Given the description of an element on the screen output the (x, y) to click on. 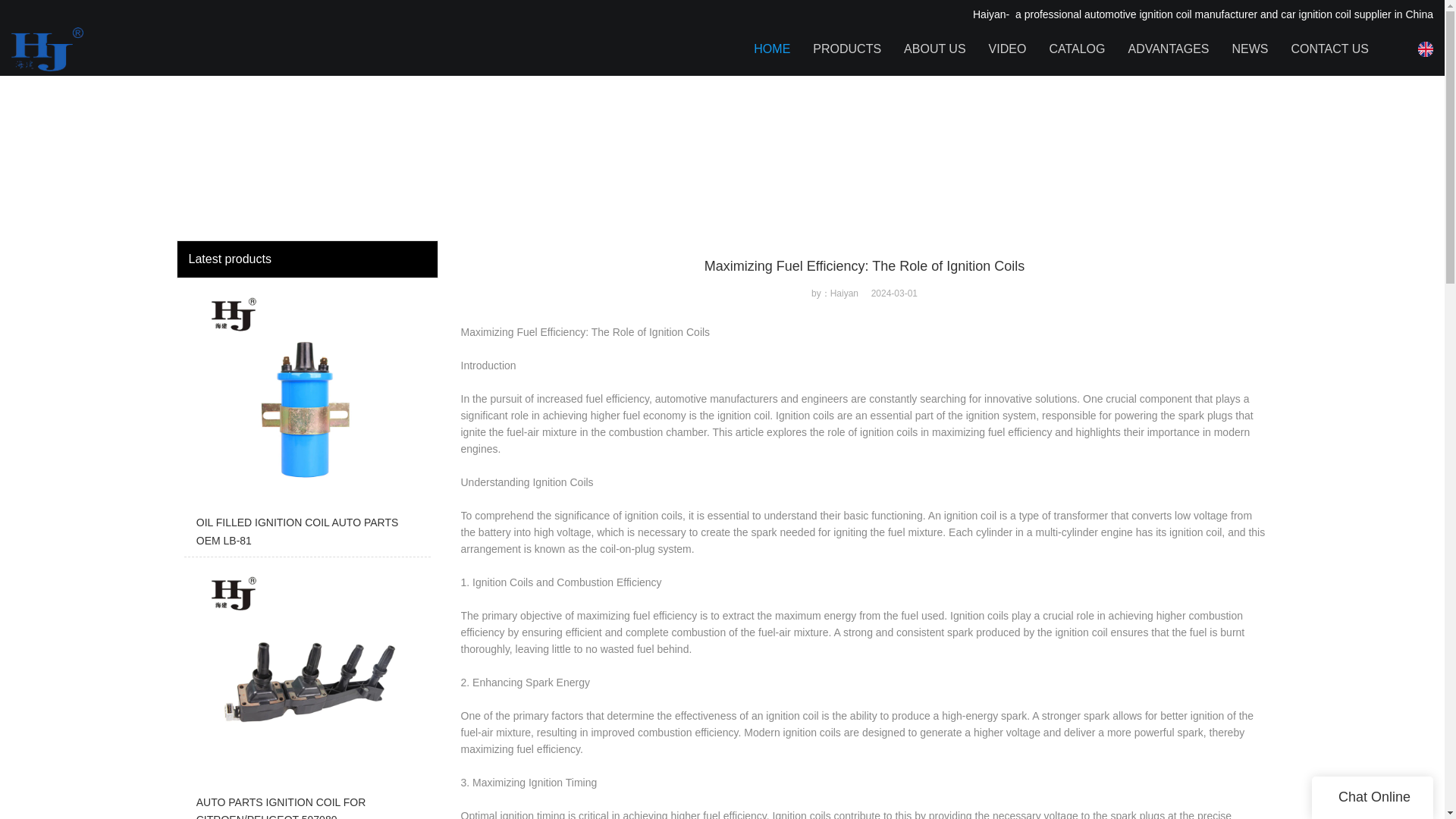
ADVANTAGES (1167, 49)
CONTACT US (1329, 49)
CATALOG (1076, 49)
ABOUT US (935, 49)
OIL FILLED IGNITION COIL AUTO PARTS OEM LB-81 (306, 421)
PRODUCTS (846, 49)
Haiyan (189, 43)
